Given the description of an element on the screen output the (x, y) to click on. 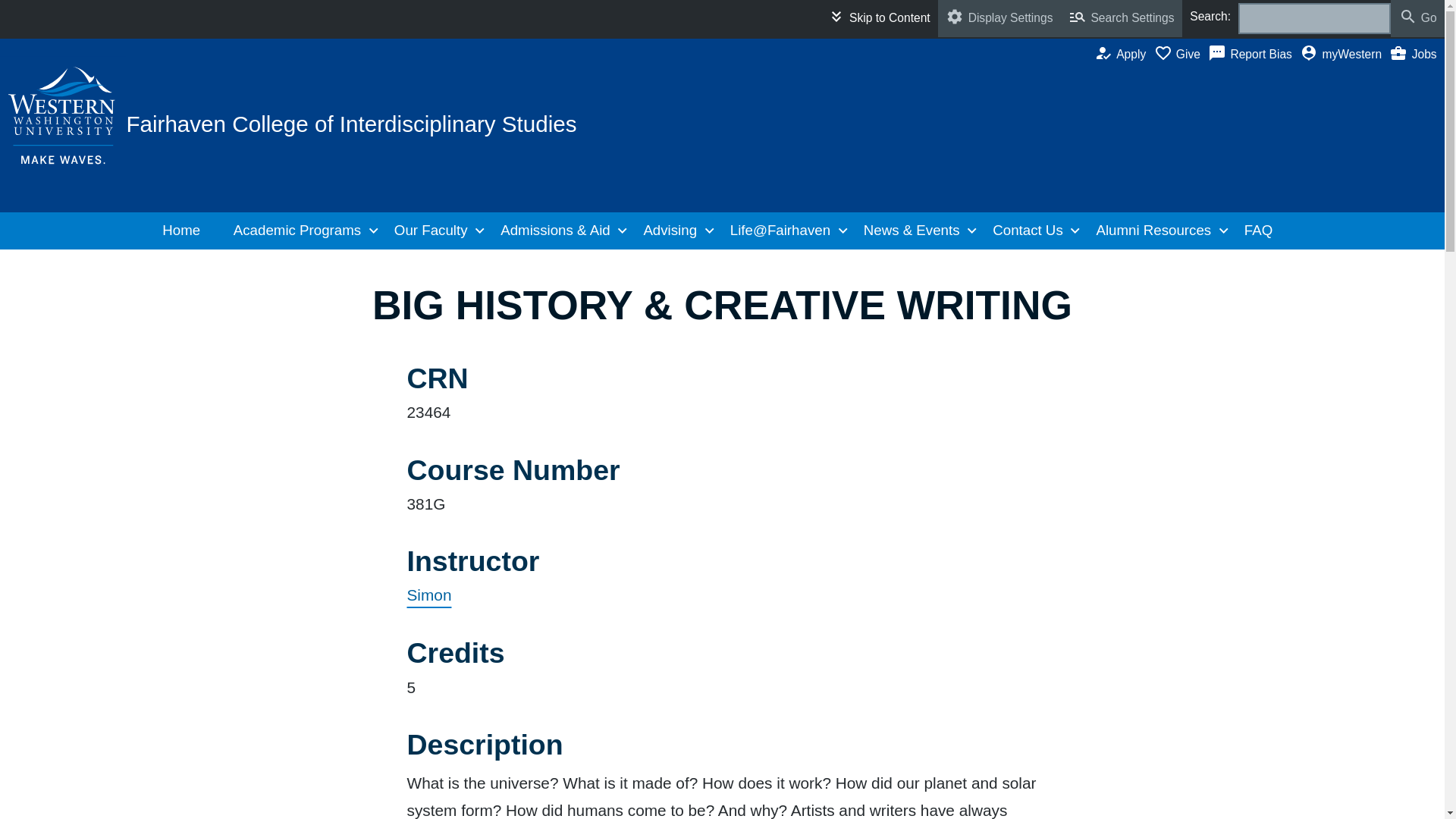
Our Faculty (434, 231)
Frequently Asked Questions (1262, 231)
Give (1181, 55)
Western Logo (63, 115)
Report Bias (1254, 55)
Display Settings (999, 18)
Fairhaven College of Interdisciplinary Studies (350, 123)
Academic Programs (301, 231)
Skip to Content (877, 18)
Home (186, 231)
Search Settings (1121, 18)
myWestern (1344, 55)
Apply (1124, 55)
